Given the description of an element on the screen output the (x, y) to click on. 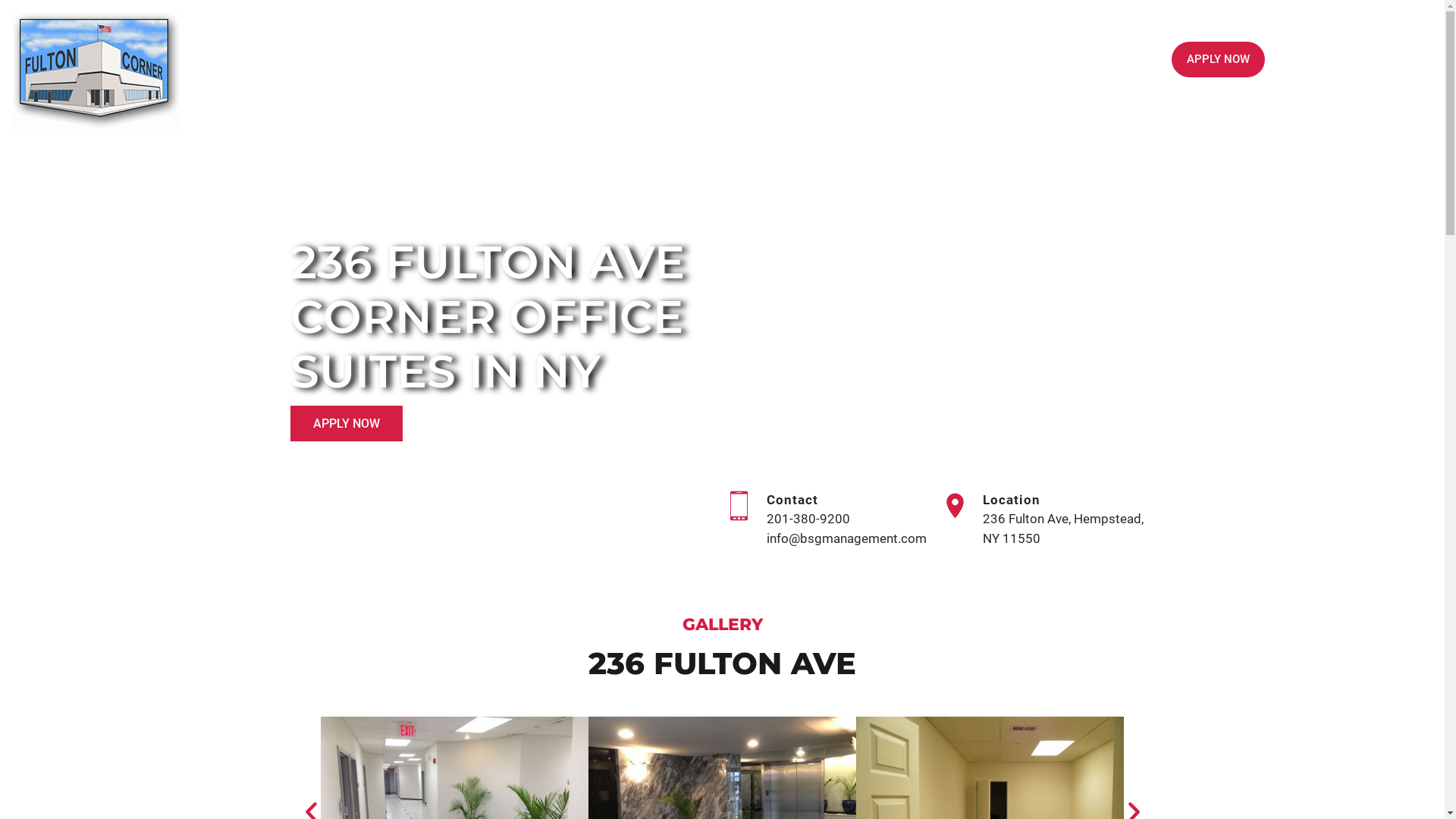
FEATURES Element type: text (1030, 59)
APPLY NOW Element type: text (1217, 59)
APPLY NOW Element type: text (345, 423)
info@bsgmanagement.com Element type: text (846, 538)
GALLERY Element type: text (949, 59)
CONTACT US Element type: text (1121, 59)
201-380-9200 Element type: text (808, 518)
